Given the description of an element on the screen output the (x, y) to click on. 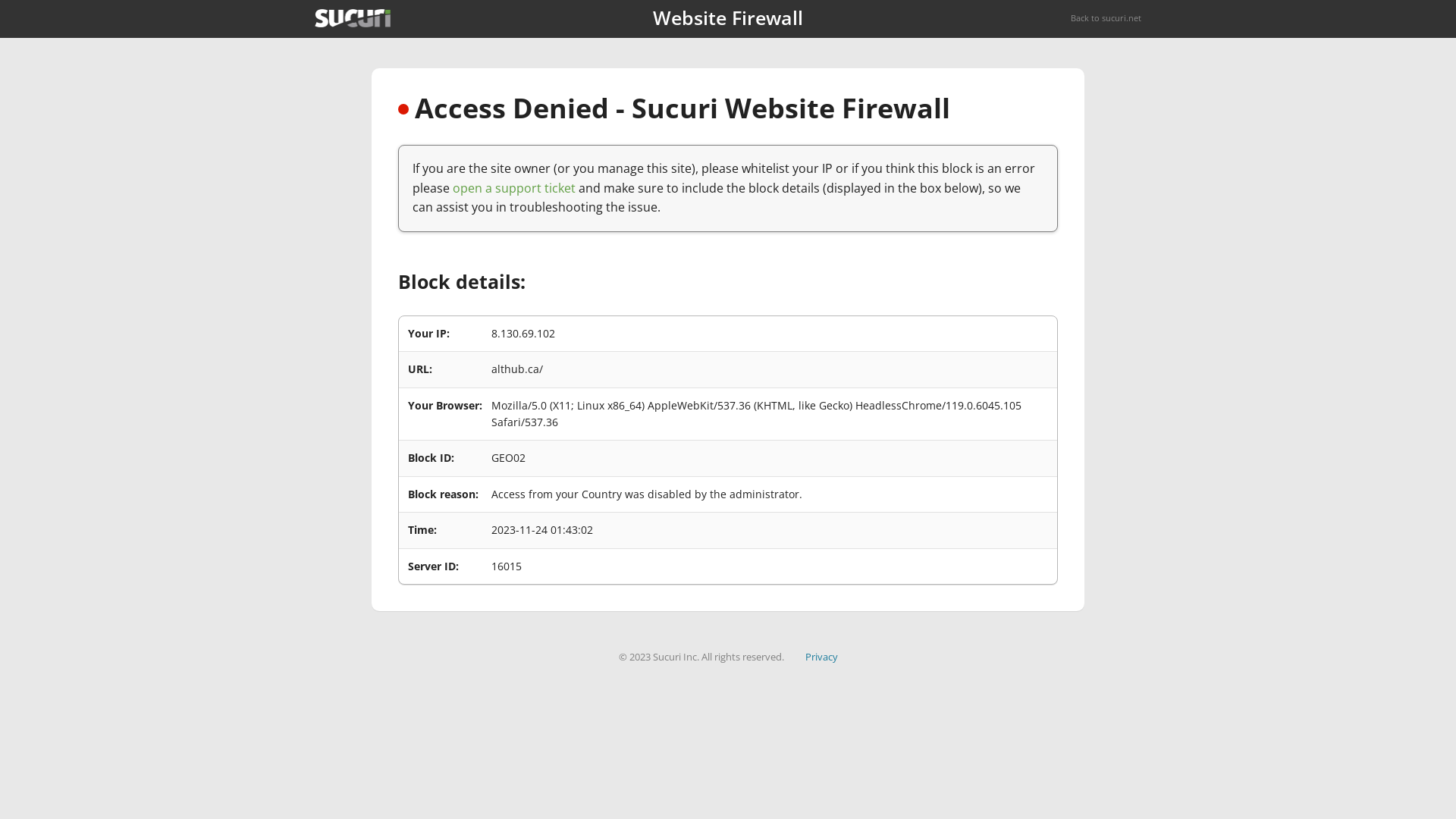
Back to sucuri.net Element type: text (1105, 18)
open a support ticket Element type: text (513, 187)
Privacy Element type: text (821, 656)
